Given the description of an element on the screen output the (x, y) to click on. 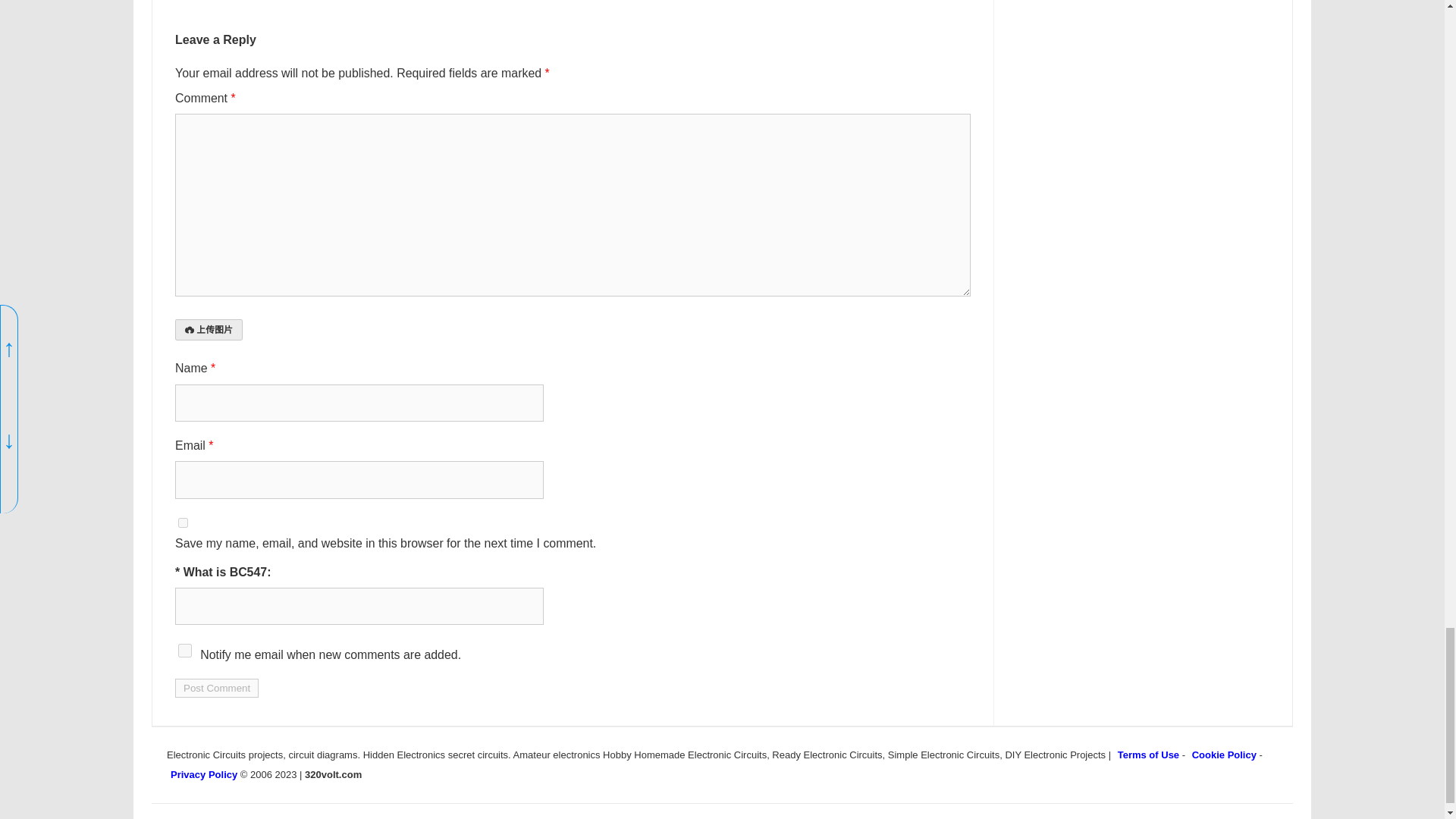
1 (184, 650)
Post Comment (216, 687)
Post Comment (216, 687)
yes (182, 522)
Terms of Use (1148, 754)
